Given the description of an element on the screen output the (x, y) to click on. 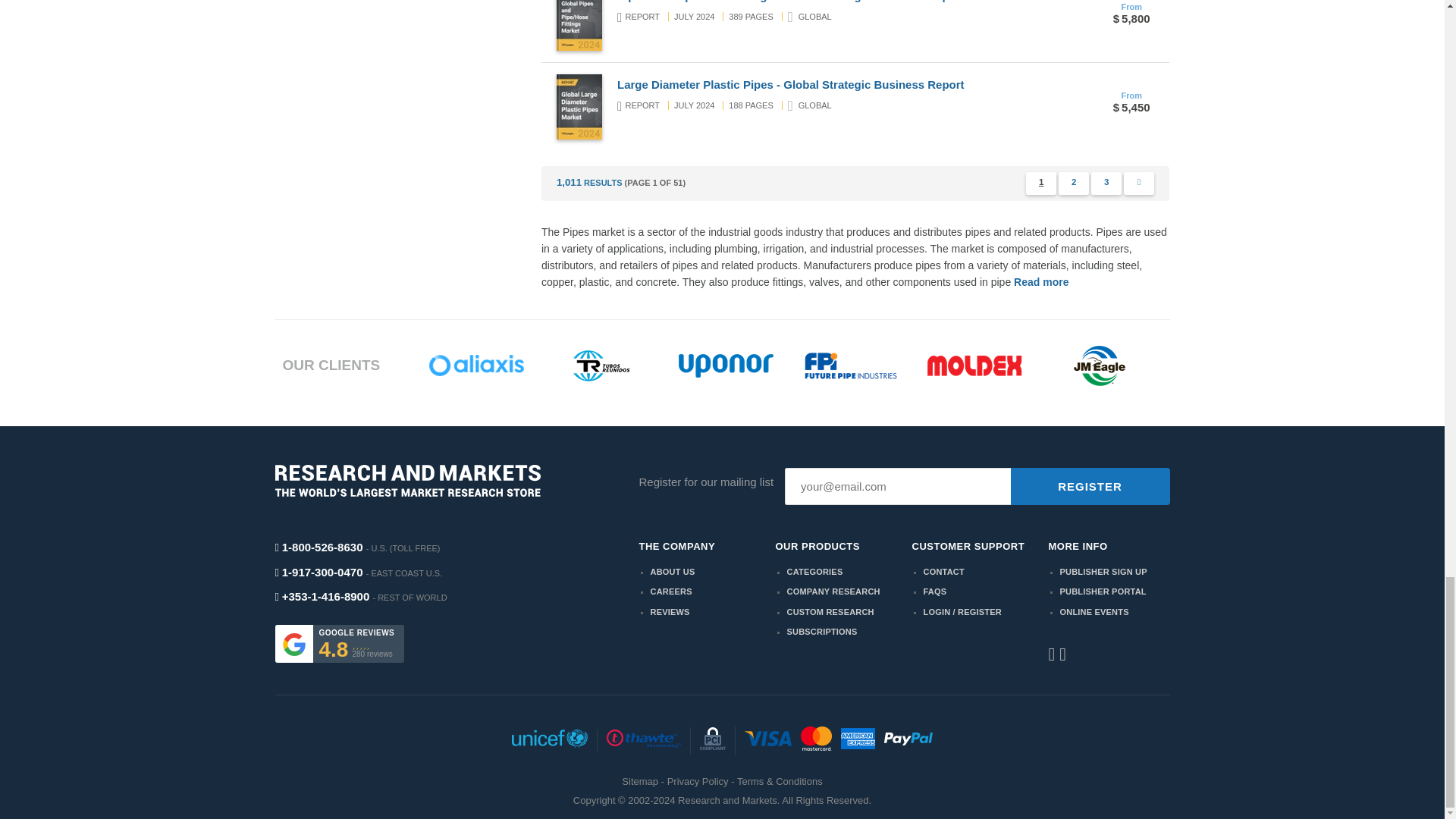
Tubos Reunidos (600, 365)
JM Eagle (1099, 365)
Aliaxis Group (476, 364)
MasterCard (815, 740)
UNICEF Partner (549, 740)
Thawte (643, 740)
Moldex (974, 364)
PCI Compliant (712, 740)
Uponor (725, 365)
PayPal (908, 741)
VISA (768, 741)
American Express (858, 740)
Future Pipe Industries (850, 366)
